Given the description of an element on the screen output the (x, y) to click on. 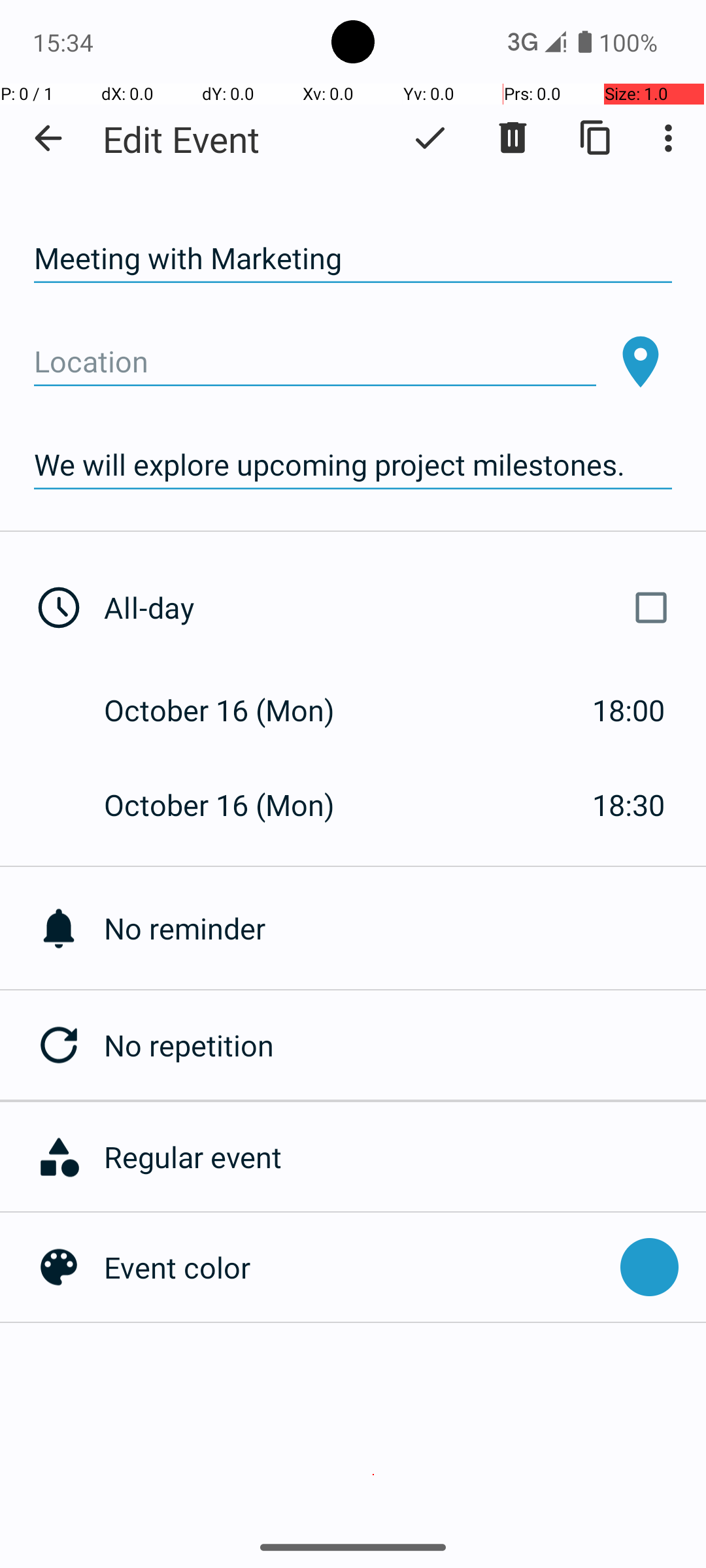
Meeting with Marketing Element type: android.widget.EditText (352, 258)
We will explore upcoming project milestones. Element type: android.widget.EditText (352, 465)
October 16 (Mon) Element type: android.widget.TextView (232, 709)
18:00 Element type: android.widget.TextView (628, 709)
18:30 Element type: android.widget.TextView (628, 804)
